Given the description of an element on the screen output the (x, y) to click on. 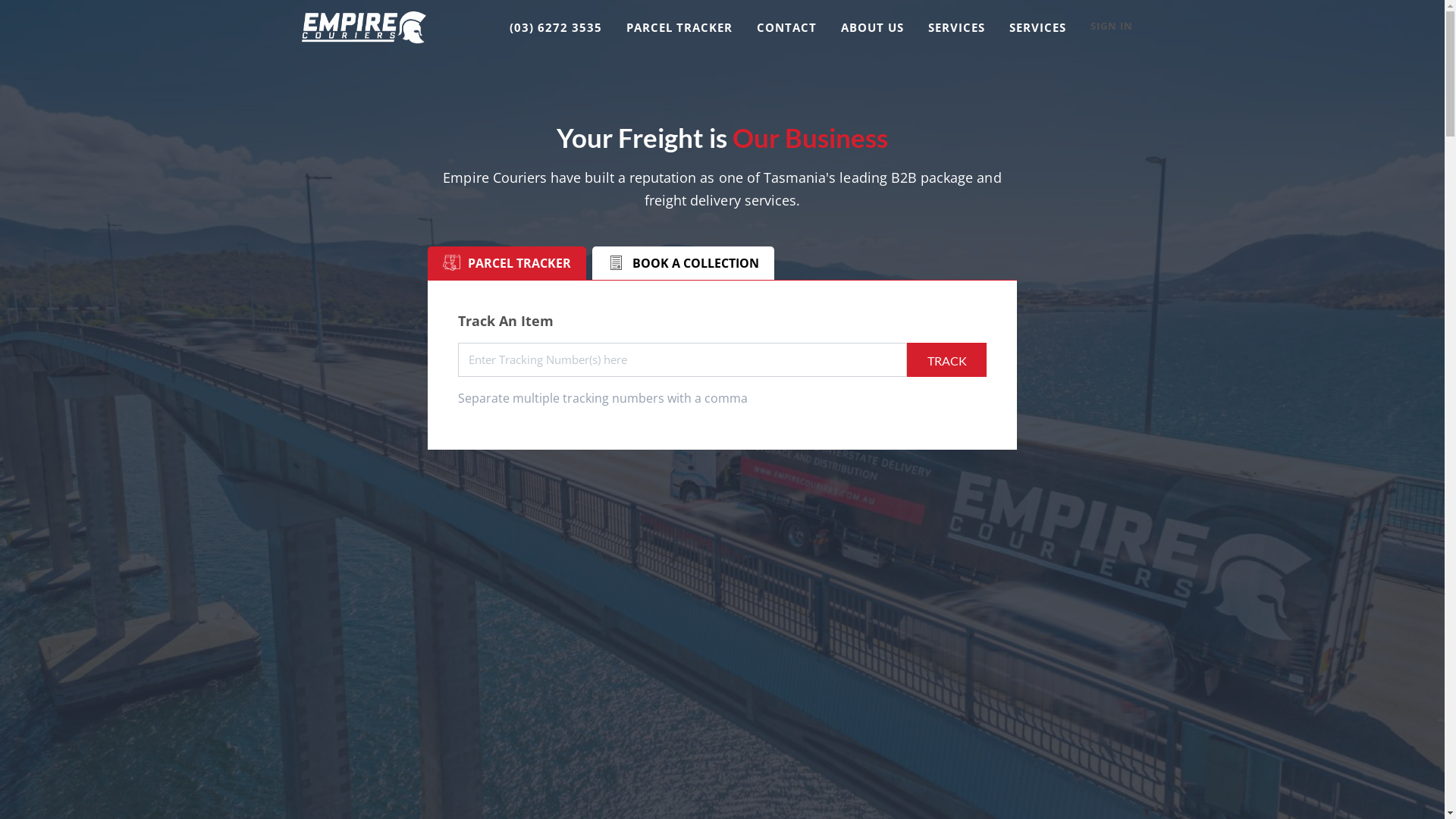
TRACK Element type: text (946, 359)
SERVICES Element type: text (1036, 27)
SERVICES Element type: text (956, 27)
CONTACT Element type: text (786, 27)
ABOUT US Element type: text (871, 27)
BOOK A COLLECTION Element type: text (683, 262)
PARCEL TRACKER Element type: text (679, 27)
SIGN IN Element type: text (1111, 26)
PARCEL TRACKER Element type: text (506, 262)
(03) 6272 3535 Element type: text (555, 27)
Empire Couriers Element type: hover (363, 27)
